Given the description of an element on the screen output the (x, y) to click on. 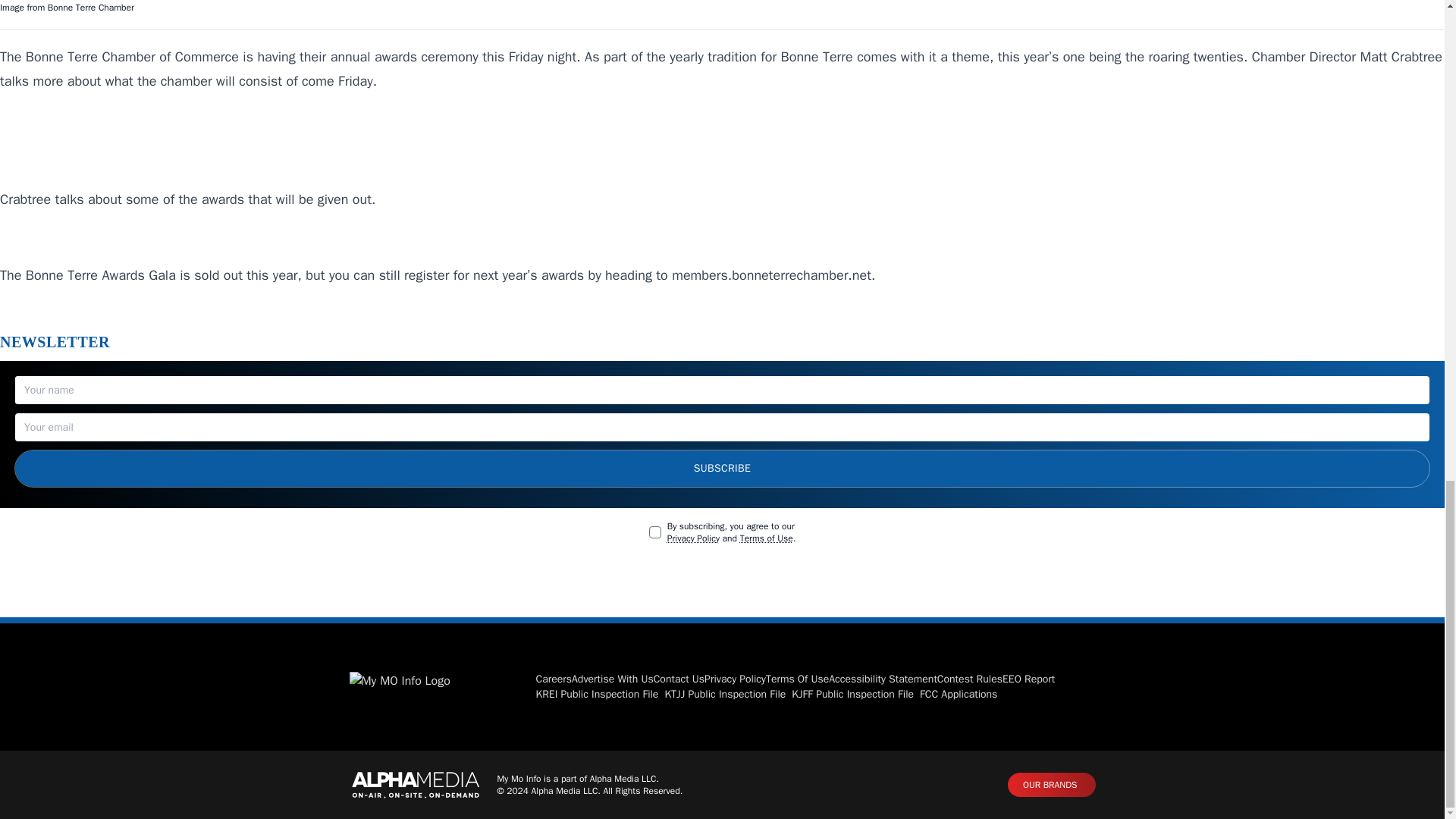
Signup Terms Agree (655, 532)
